Given the description of an element on the screen output the (x, y) to click on. 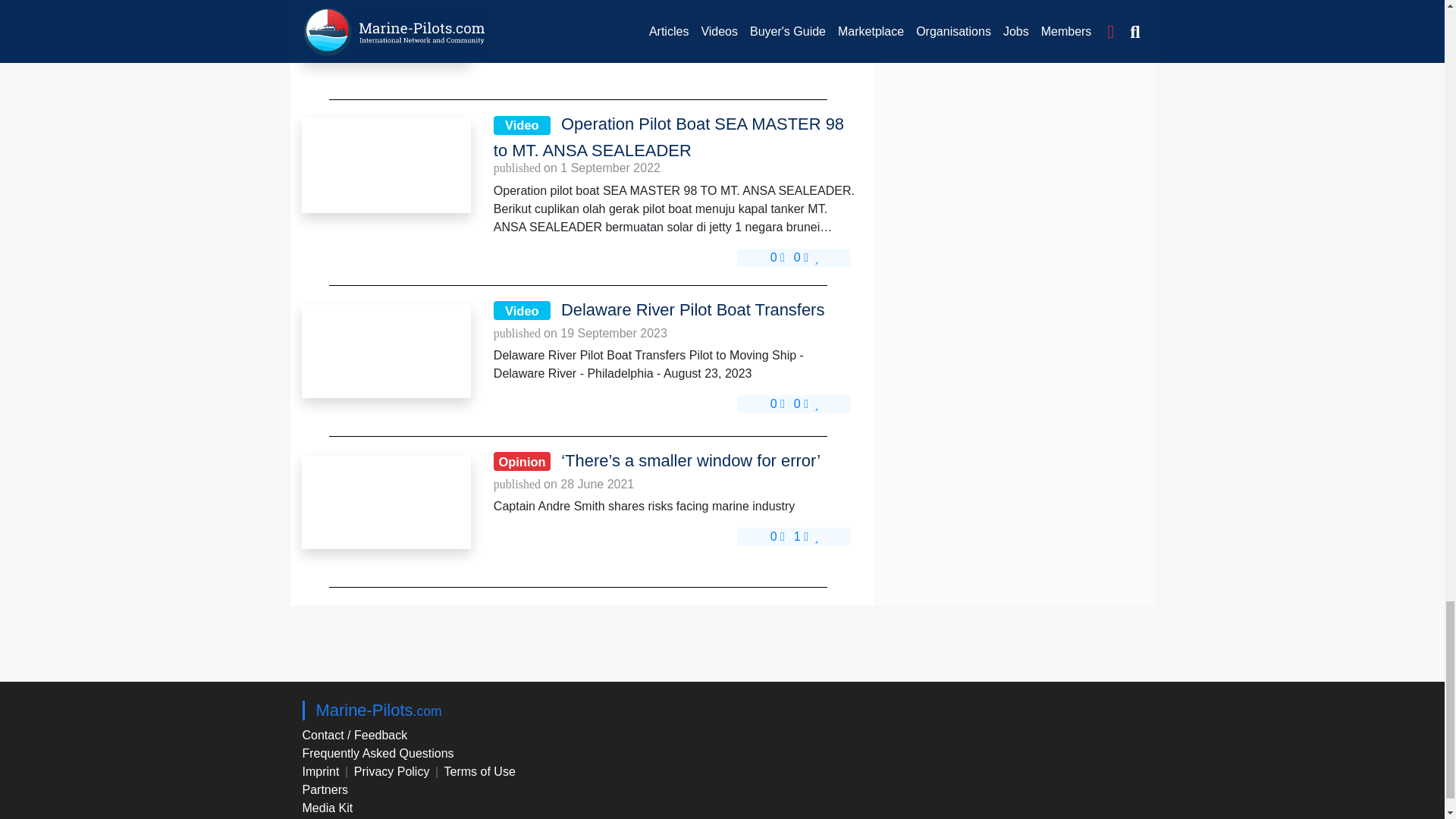
Operation Pilot Boat SEA MASTER 98 to MT. ANSA SEALEADER (385, 164)
Thai maritime pilots - image video (385, 30)
Delaware River Pilot Boat Transfers (385, 350)
